Given the description of an element on the screen output the (x, y) to click on. 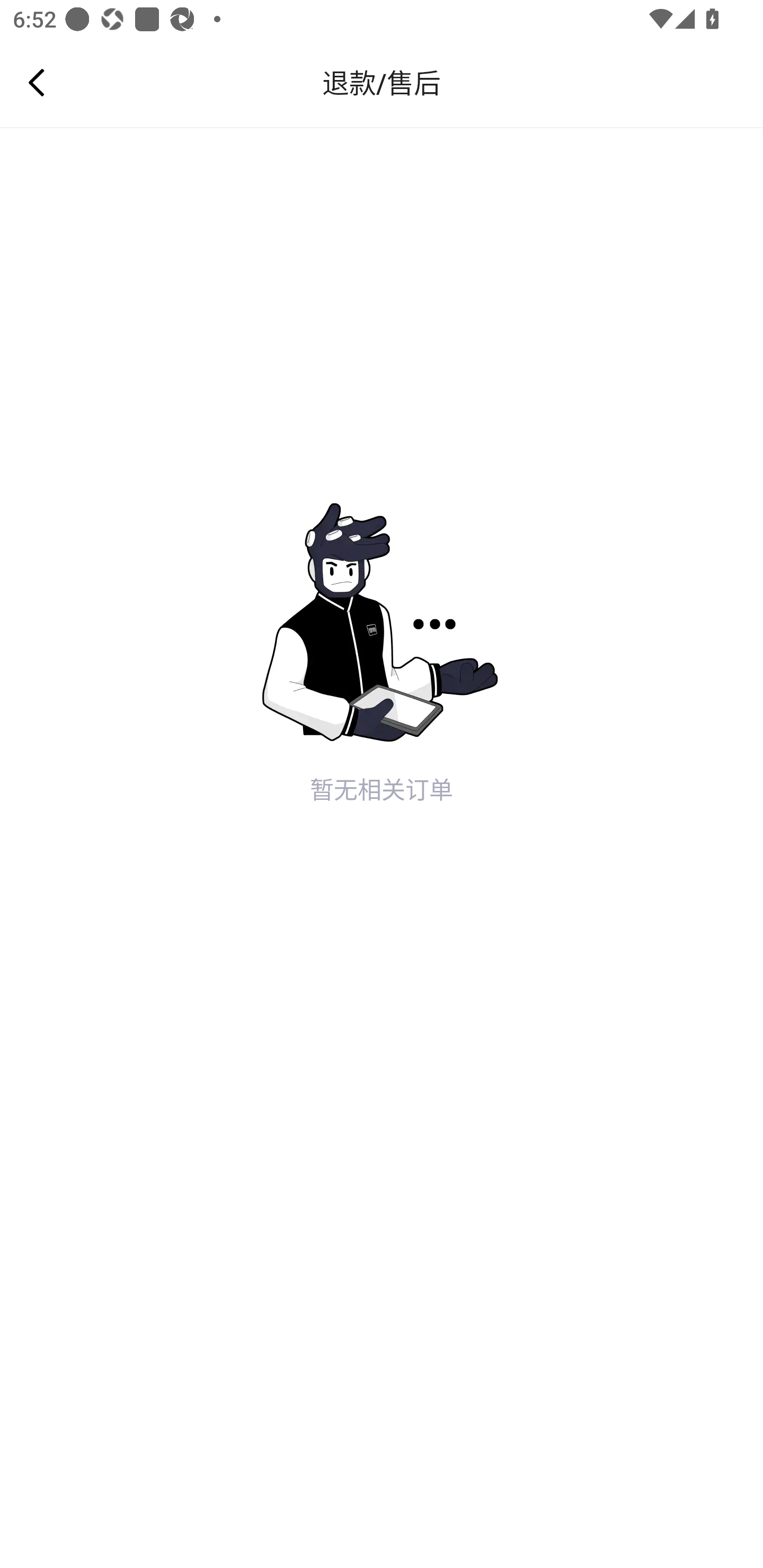
Navigate up (36, 82)
